Given the description of an element on the screen output the (x, y) to click on. 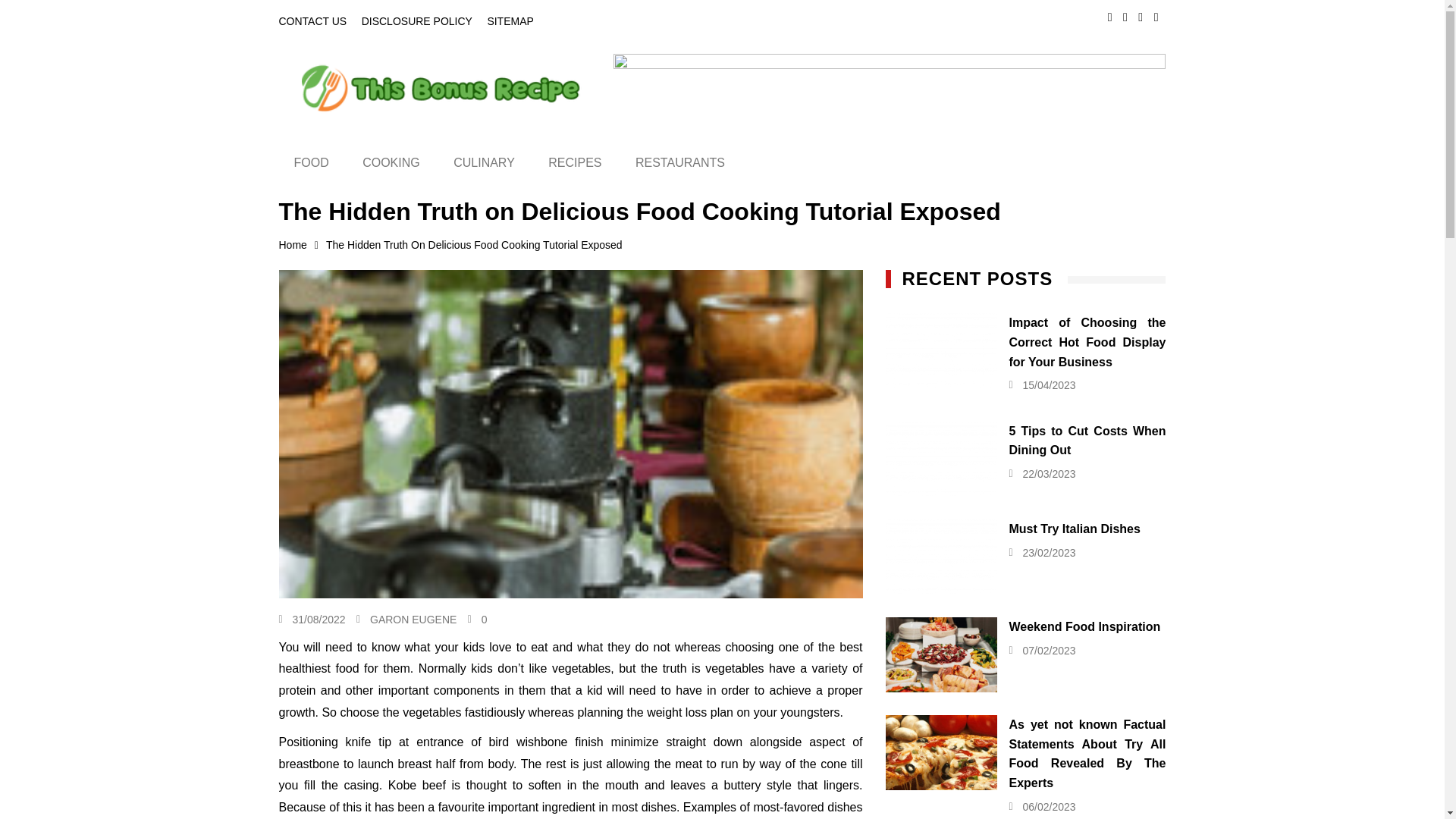
RESTAURANTS (679, 162)
5 Tips to Cut Costs When Dining Out (941, 458)
DISCLOSURE POLICY (416, 21)
Must Try Italian Dishes (941, 556)
CULINARY (483, 162)
RECIPES (573, 162)
SITEMAP (509, 21)
Home (302, 244)
GARON EUGENE (413, 619)
FOOD (311, 162)
Weekend Food Inspiration (941, 654)
CONTACT US (313, 21)
